Given the description of an element on the screen output the (x, y) to click on. 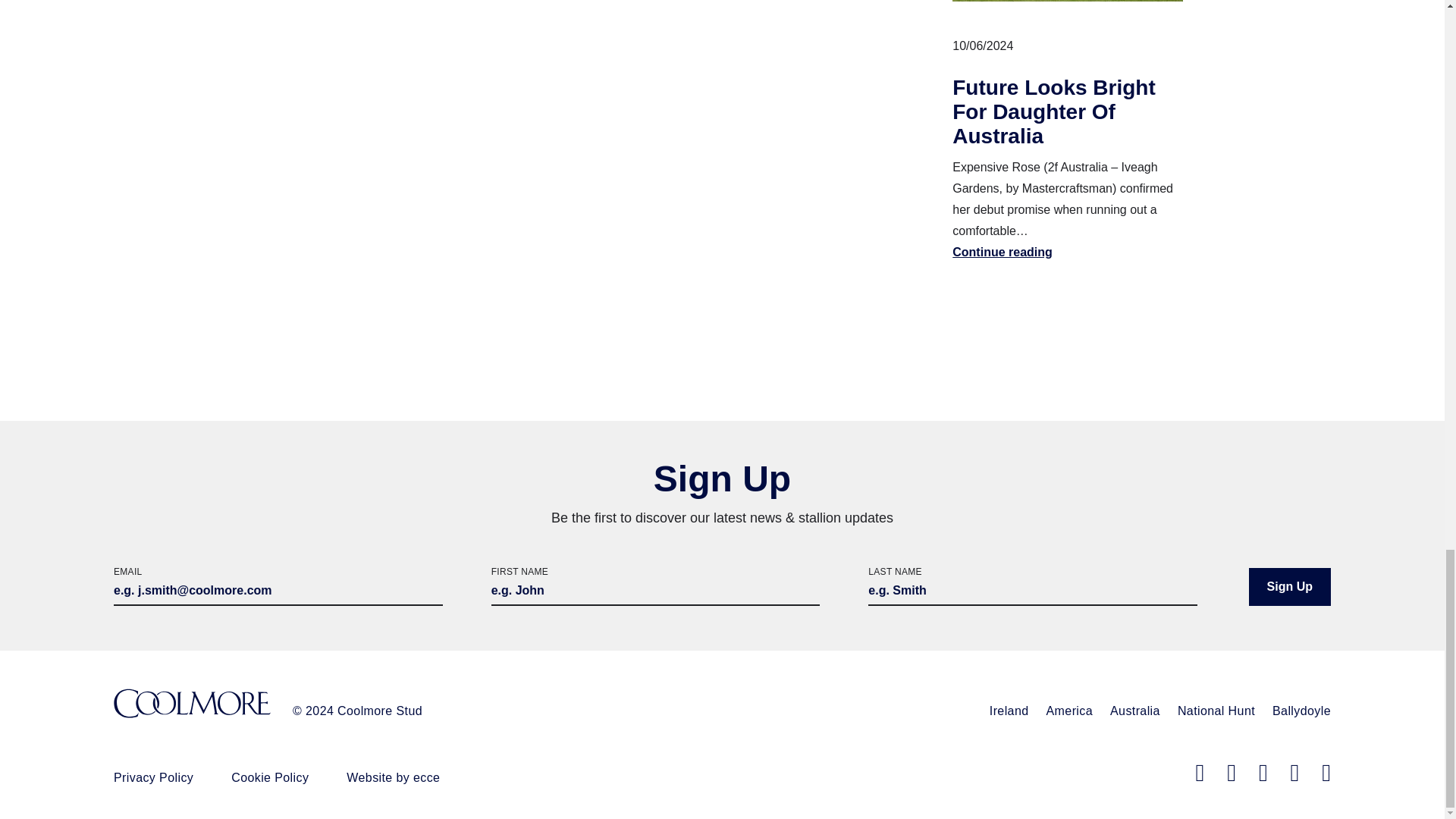
Coolmore (191, 704)
Ireland (1009, 710)
Website by ecce (392, 777)
Australia (1134, 710)
Privacy Policy (153, 777)
Sign Up (1289, 587)
America (1069, 710)
Cookie Policy (269, 777)
Ballydoyle (1301, 710)
National Hunt (1216, 710)
